Given the description of an element on the screen output the (x, y) to click on. 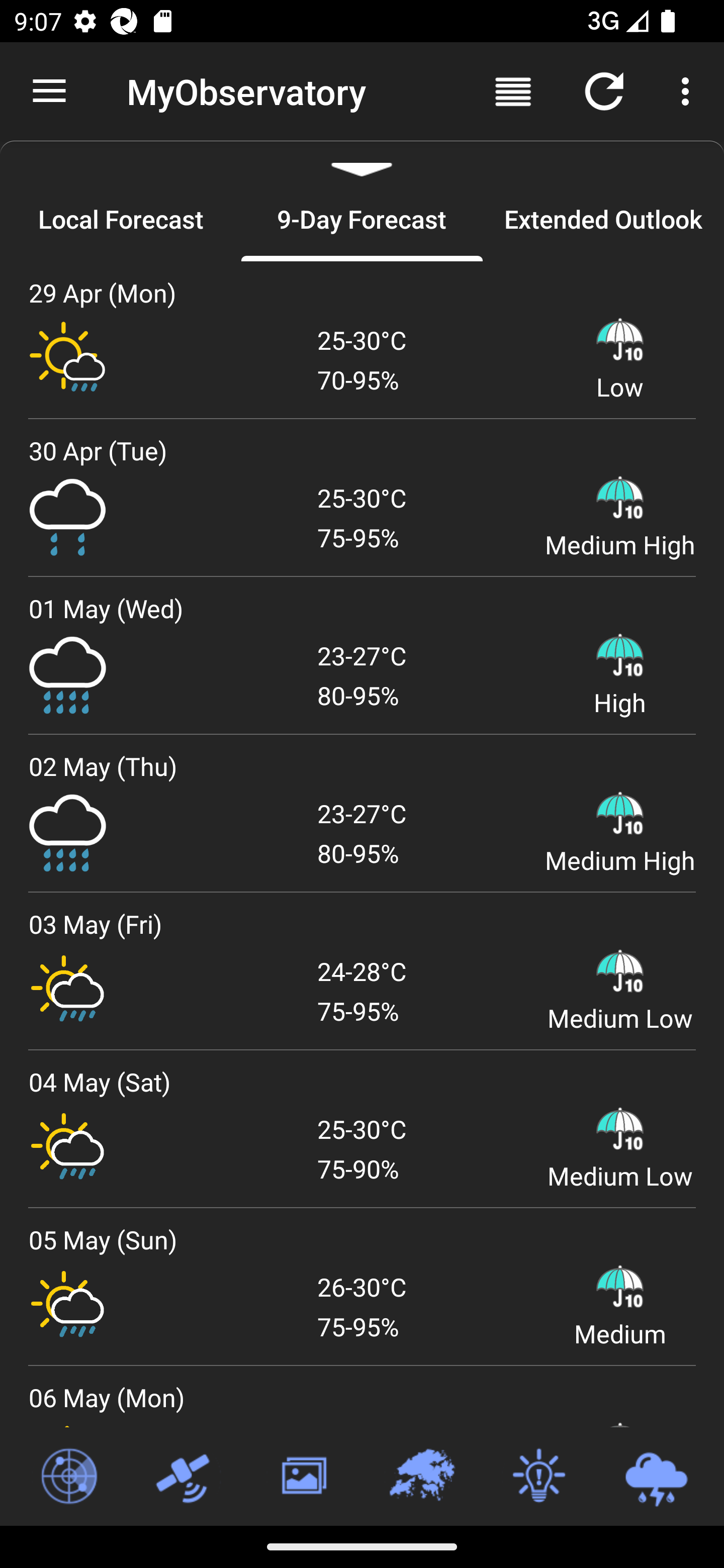
Navigate up (49, 91)
Vertical layout (512, 90)
Refresh (604, 90)
More options (688, 90)
Collapse (362, 159)
Local Forecast (120, 219)
Extended Outlook (603, 219)
Radar Images (68, 1476)
Satellite Images (185, 1476)
Weather Photos (302, 1476)
Regional Weather (420, 1476)
Weather Tips (537, 1476)
Loc-based Rain & Lightning Forecast (655, 1476)
